Given the description of an element on the screen output the (x, y) to click on. 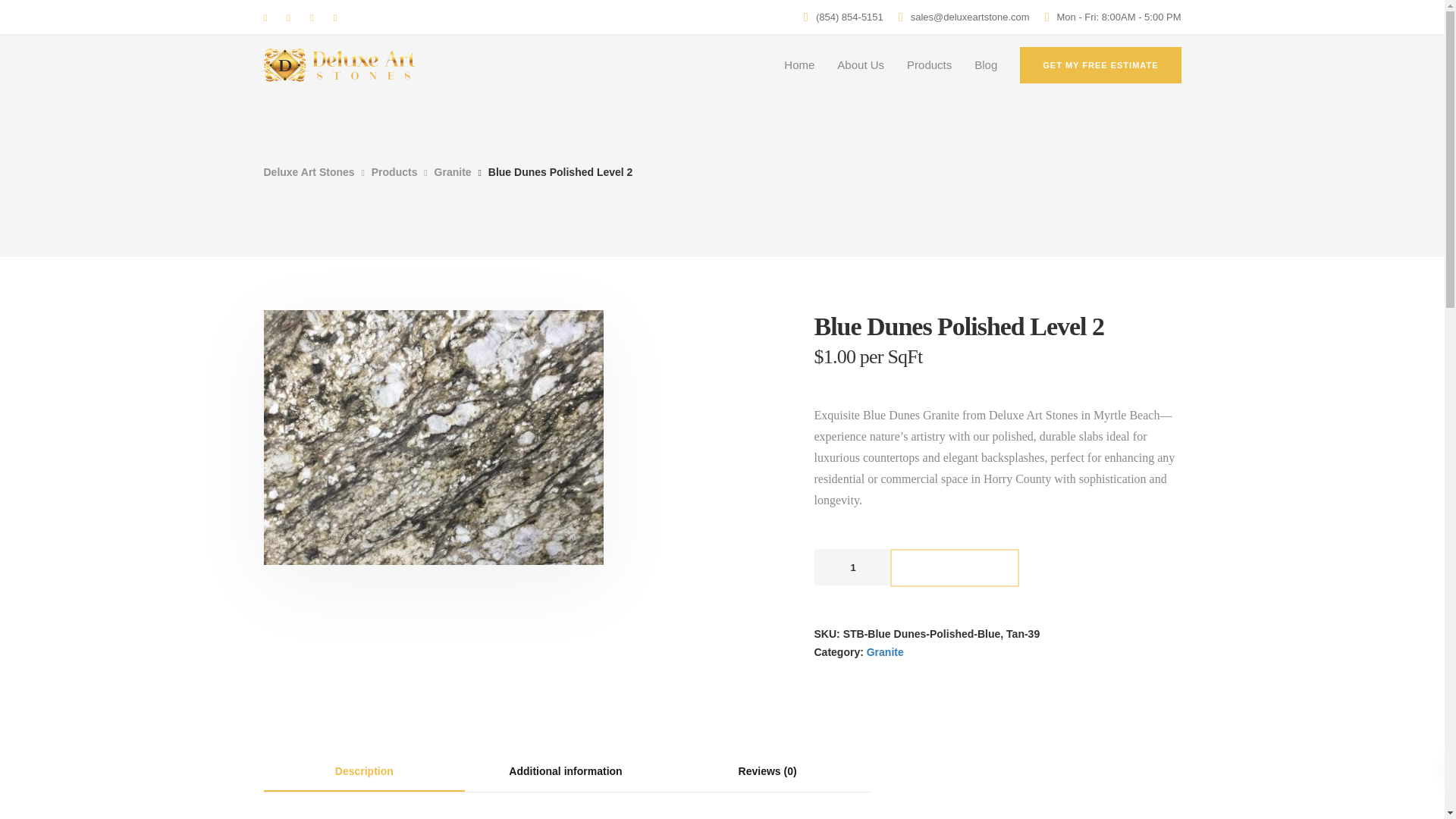
Additional information (565, 771)
Deluxe Art Stones (309, 172)
GET MY FREE ESTIMATE (1100, 64)
Go to Deluxe Art Stones. (309, 172)
Description (364, 772)
Granite (452, 172)
Go to the Granite Category archives. (452, 172)
Deluxe-Art-Stones-Blue-Dunes-1.jpeg (433, 437)
Products (928, 65)
1 (851, 566)
Products (394, 172)
Granite (885, 652)
About Us (860, 65)
ADD TO CART (954, 567)
